Given the description of an element on the screen output the (x, y) to click on. 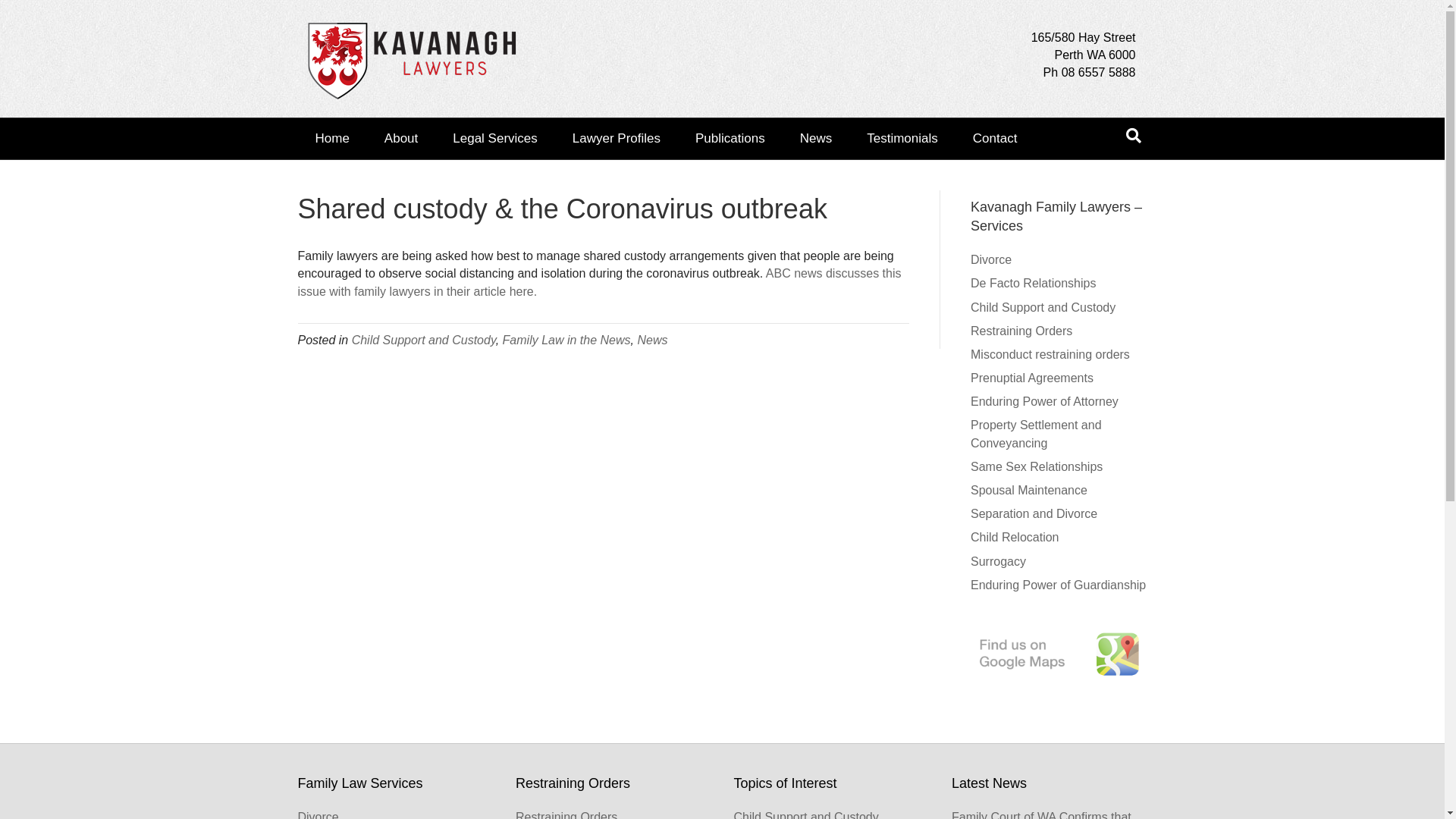
Misconduct restraining orders Element type: text (1049, 354)
Enduring Power of Attorney Element type: text (1044, 401)
Same Sex Relationships Element type: text (1036, 466)
Property Settlement and Conveyancing Element type: text (1035, 433)
Child Support and Custody Element type: text (1042, 307)
News Element type: text (816, 138)
Separation and Divorce Element type: text (1033, 513)
Testimonials Element type: text (902, 138)
Family Law in the News Element type: text (566, 339)
Surrogacy Element type: text (998, 561)
Child Relocation Element type: text (1014, 536)
Restraining Orders Element type: text (1021, 330)
Divorce Element type: text (990, 259)
Child Support and Custody Element type: text (423, 339)
De Facto Relationships Element type: text (1032, 282)
Home Element type: text (331, 138)
Lawyer Profiles Element type: text (616, 138)
Legal Services Element type: text (495, 138)
About Element type: text (401, 138)
Contact Element type: text (995, 138)
News Element type: text (652, 339)
Prenuptial Agreements Element type: text (1031, 377)
Spousal Maintenance Element type: text (1028, 489)
Publications Element type: text (729, 138)
Visit Kavanagh Family Lawyers Element type: hover (1058, 653)
Enduring Power of Guardianship Element type: text (1057, 584)
